Given the description of an element on the screen output the (x, y) to click on. 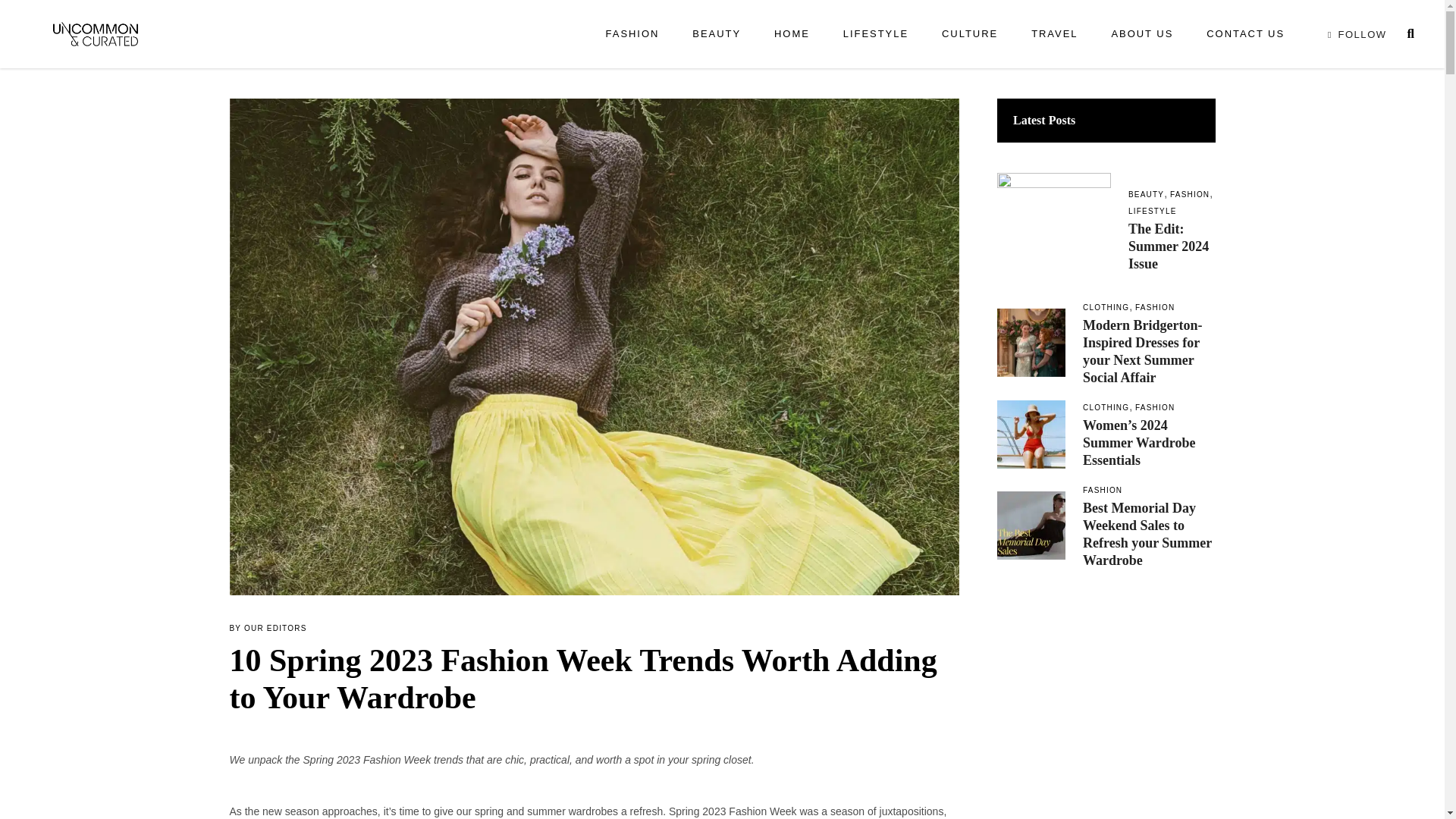
ABOUT US (1141, 33)
The Edit: Summer 2024 Issue (1168, 246)
CONTACT US (1245, 33)
CULTURE (969, 33)
BEAUTY (716, 33)
HOME (792, 33)
FASHION (633, 33)
TRAVEL (1054, 33)
FOLLOW (1354, 33)
LIFESTYLE (875, 33)
The Edit: Summer 2024 Issue (1053, 229)
